Given the description of an element on the screen output the (x, y) to click on. 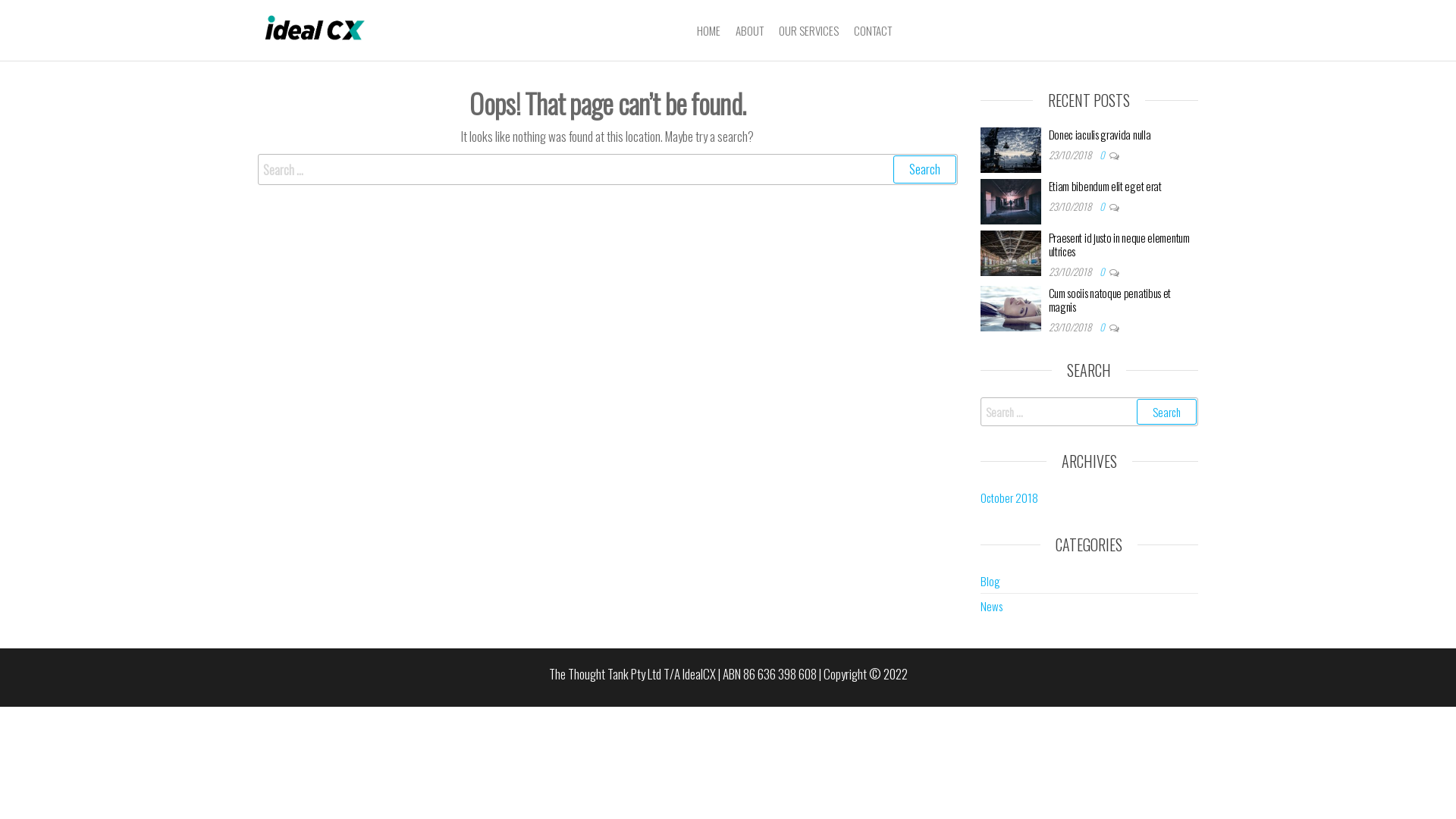
0 Element type: text (1104, 205)
CONTACT Element type: text (872, 30)
Search Element type: text (924, 169)
Cum sociis natoque penatibus et magnis Element type: hover (1009, 306)
HOME Element type: text (708, 30)
Cum sociis natoque penatibus et magnis Element type: text (1109, 299)
Donec iaculis gravida nulla Element type: hover (1009, 147)
ABOUT Element type: text (749, 30)
Ideal CX Element type: text (396, 47)
Search Element type: text (1166, 411)
October 2018 Element type: text (1008, 497)
News Element type: text (990, 605)
Blog Element type: text (989, 580)
Praesent id justo in neque elementum ultrices Element type: hover (1009, 250)
0 Element type: text (1104, 154)
Etiam bibendum elit eget erat Element type: hover (1009, 199)
Donec iaculis gravida nulla Element type: text (1099, 133)
Praesent id justo in neque elementum ultrices Element type: text (1118, 244)
OUR SERVICES Element type: text (808, 30)
Etiam bibendum elit eget erat Element type: text (1104, 185)
0 Element type: text (1104, 271)
0 Element type: text (1104, 326)
